Given the description of an element on the screen output the (x, y) to click on. 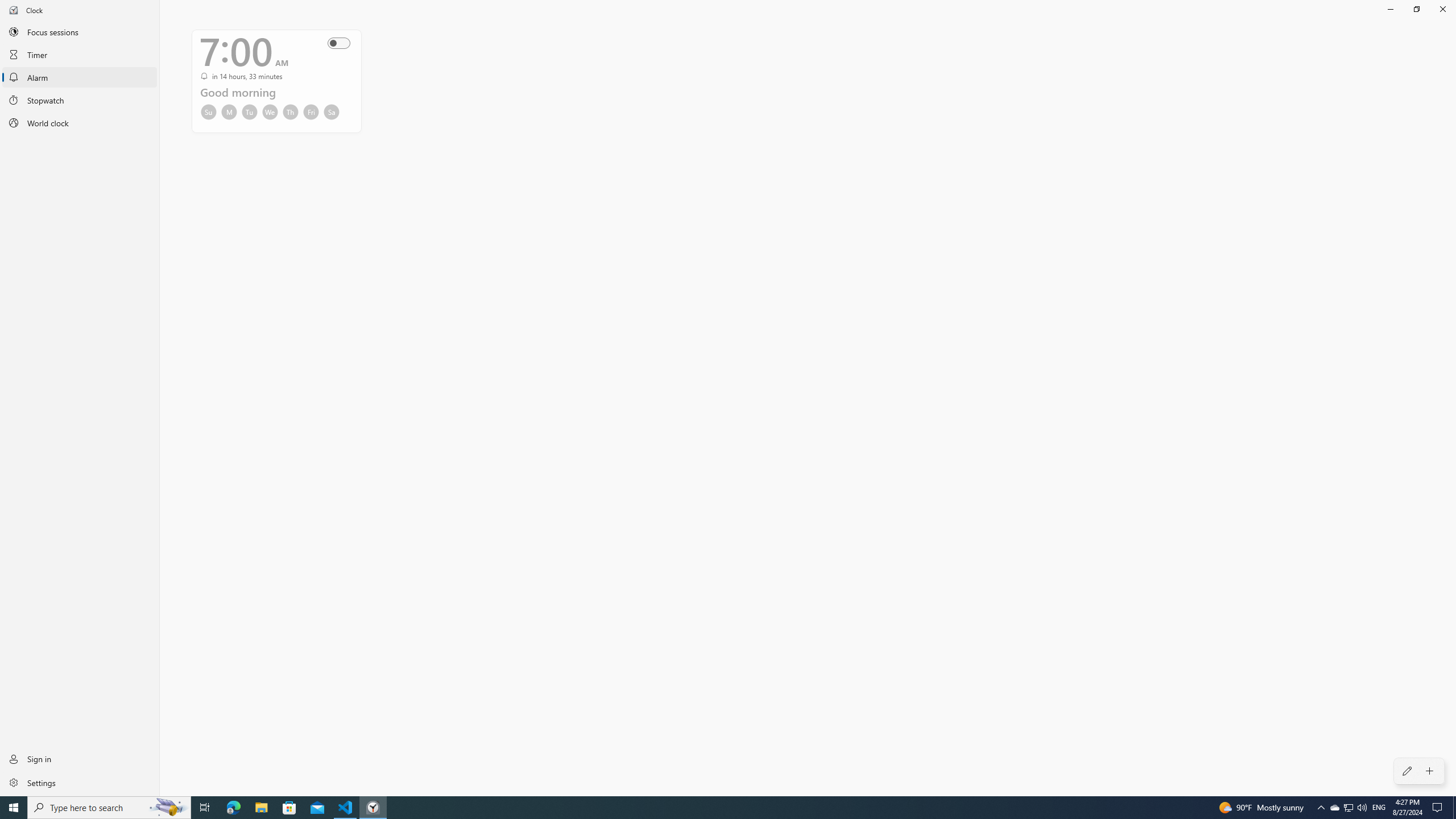
Alarm (79, 77)
Settings (79, 782)
Restore Clock (1416, 9)
Add an alarm (1429, 770)
Edit alarms (1407, 770)
Alarm On Off (341, 42)
Stopwatch (79, 100)
